Given the description of an element on the screen output the (x, y) to click on. 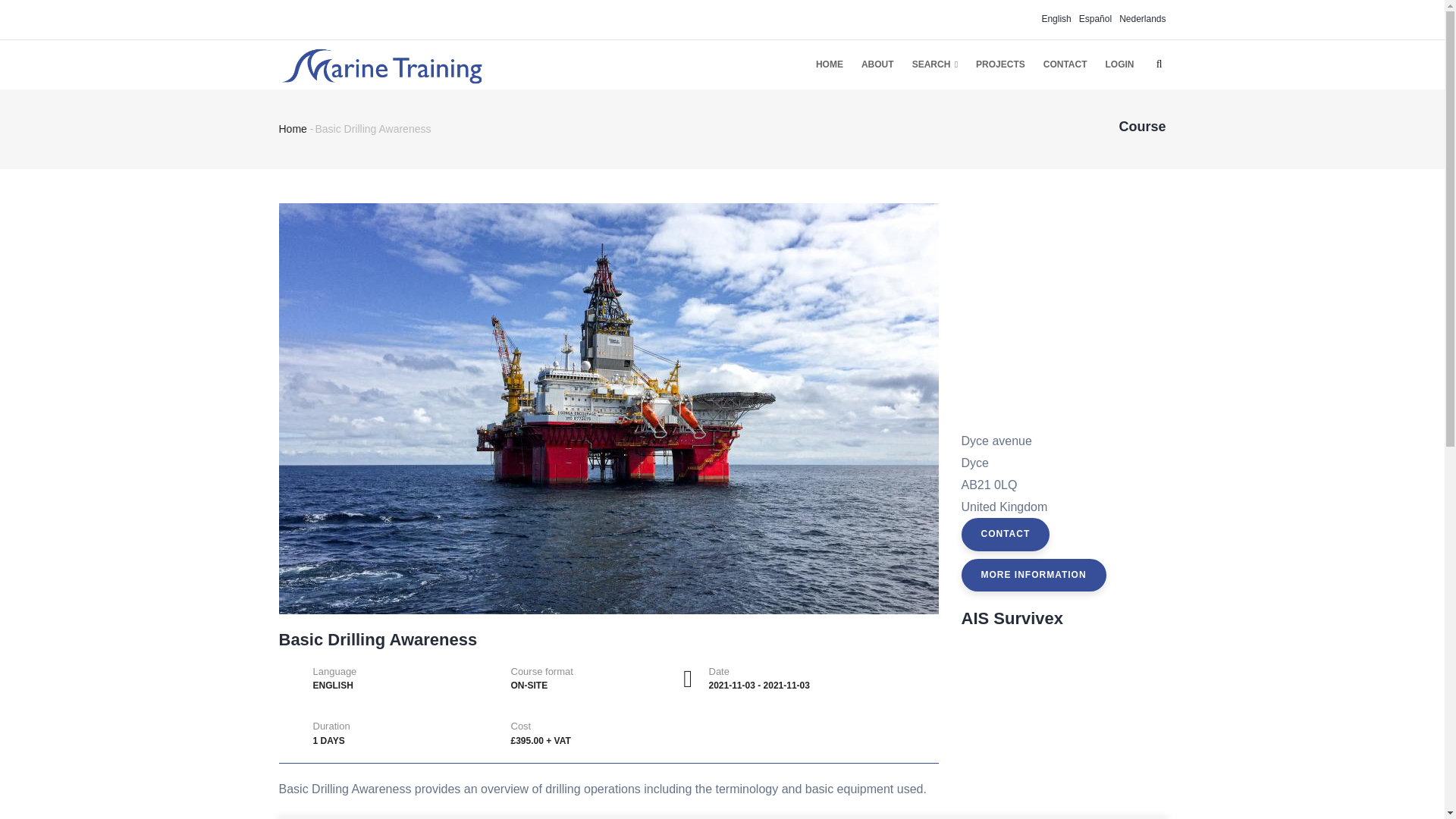
Home (381, 62)
Home (293, 128)
AIS Survivex (1012, 618)
CONTACT (1004, 534)
CONTACT (1064, 65)
HOME (828, 65)
English (1055, 18)
LOGIN (1119, 65)
SEARCH (934, 65)
